Given the description of an element on the screen output the (x, y) to click on. 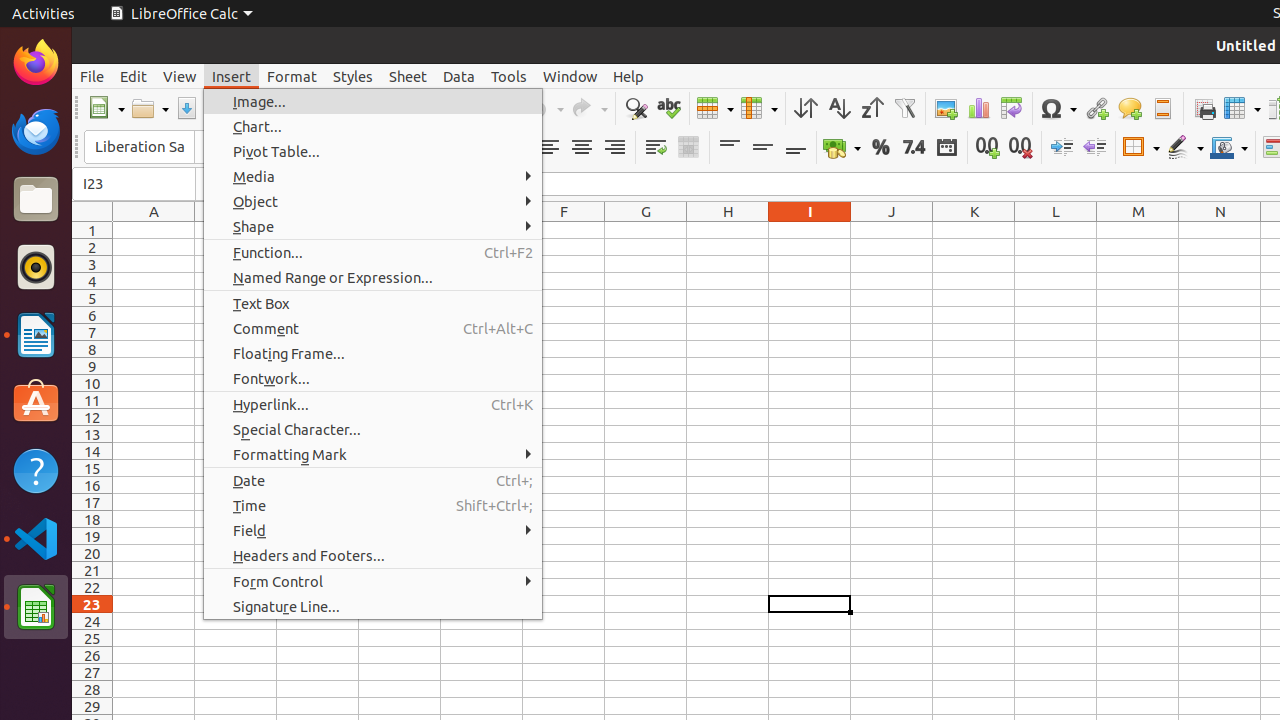
Date Element type: push-button (946, 147)
Time Element type: menu-item (373, 505)
Sort Descending Element type: push-button (871, 108)
Redo Element type: push-button (589, 108)
J1 Element type: table-cell (892, 230)
